Given the description of an element on the screen output the (x, y) to click on. 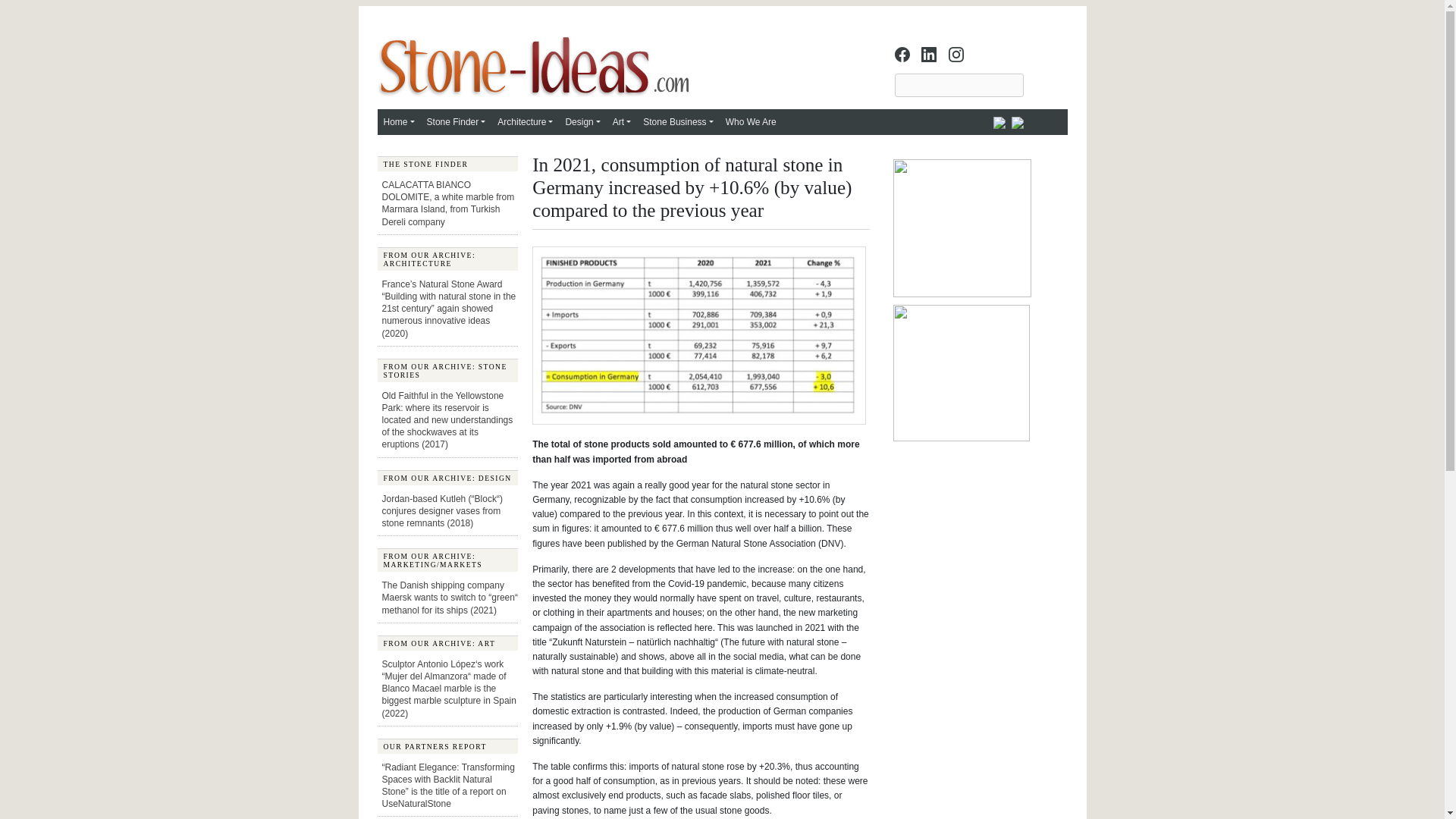
FROM OUR ARCHIVE: STONE STORIES (447, 370)
THE STONE FINDER (447, 163)
Architecture (525, 121)
FROM OUR ARCHIVE: ARCHITECTURE (447, 259)
Art (622, 121)
Stone Finder (456, 121)
Home (398, 121)
Stone Finder (456, 121)
Who We Are (751, 121)
Design (582, 121)
